Given the description of an element on the screen output the (x, y) to click on. 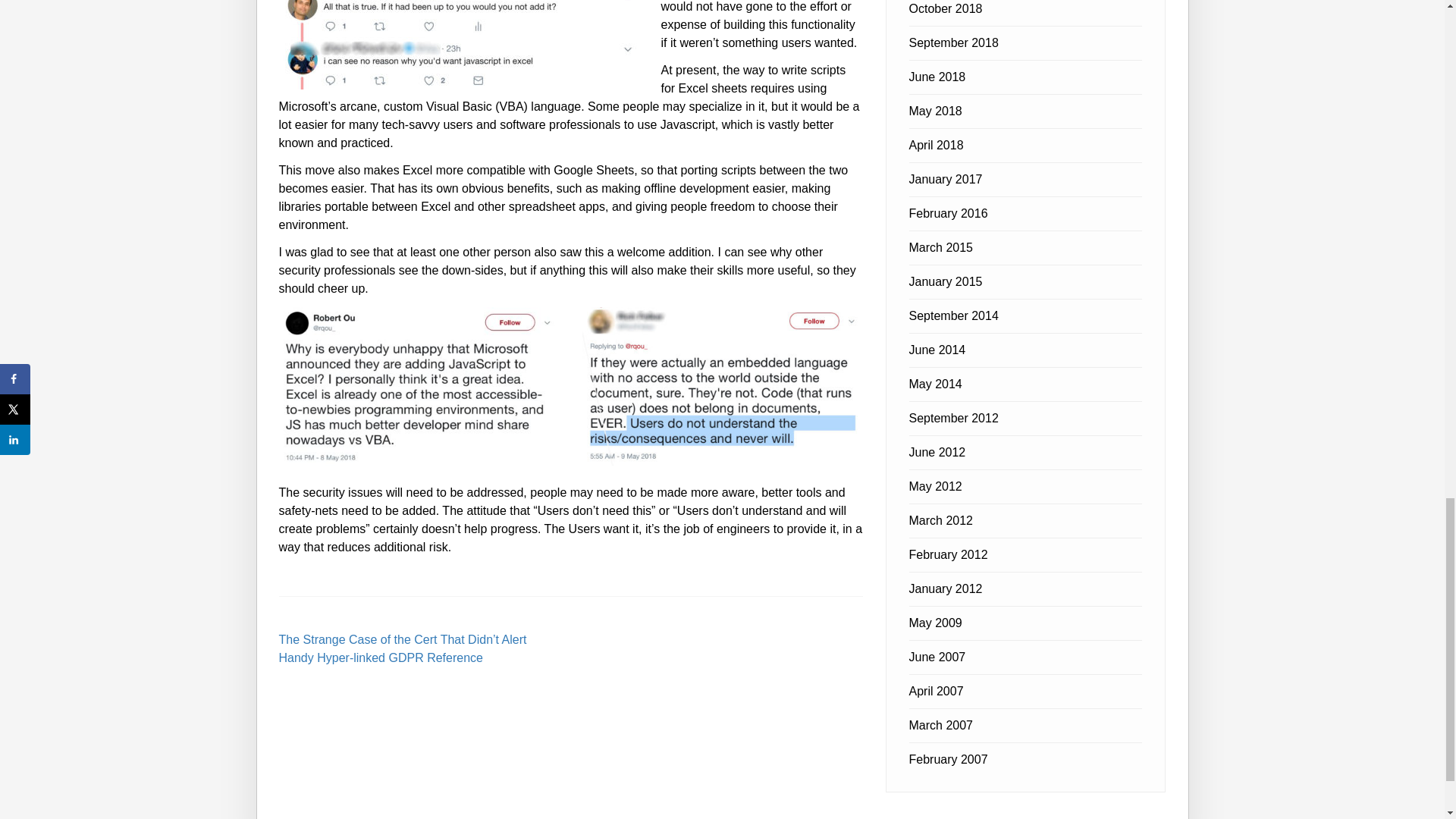
Handy Hyper-linked GDPR Reference (381, 657)
May 2018 (934, 110)
January 2017 (944, 178)
October 2018 (944, 8)
June 2018 (936, 76)
September 2018 (952, 42)
April 2018 (935, 144)
